Given the description of an element on the screen output the (x, y) to click on. 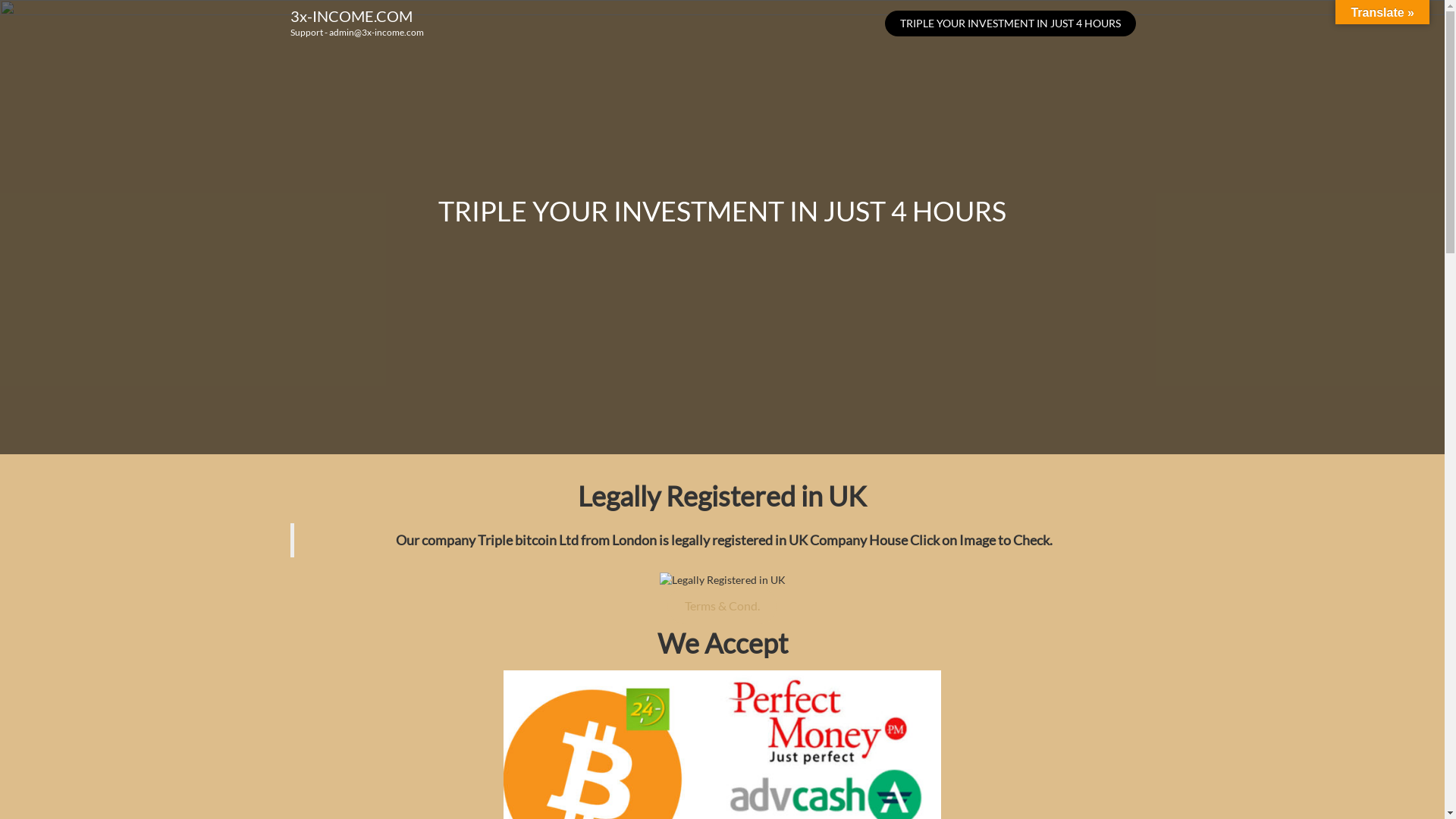
Terms & Cond. Element type: text (722, 605)
TRIPLE YOUR INVESTMENT IN JUST 4 HOURS Element type: text (1009, 23)
3x-INCOME.COM
Support - admin@3x-income.com Element type: text (356, 22)
